Given the description of an element on the screen output the (x, y) to click on. 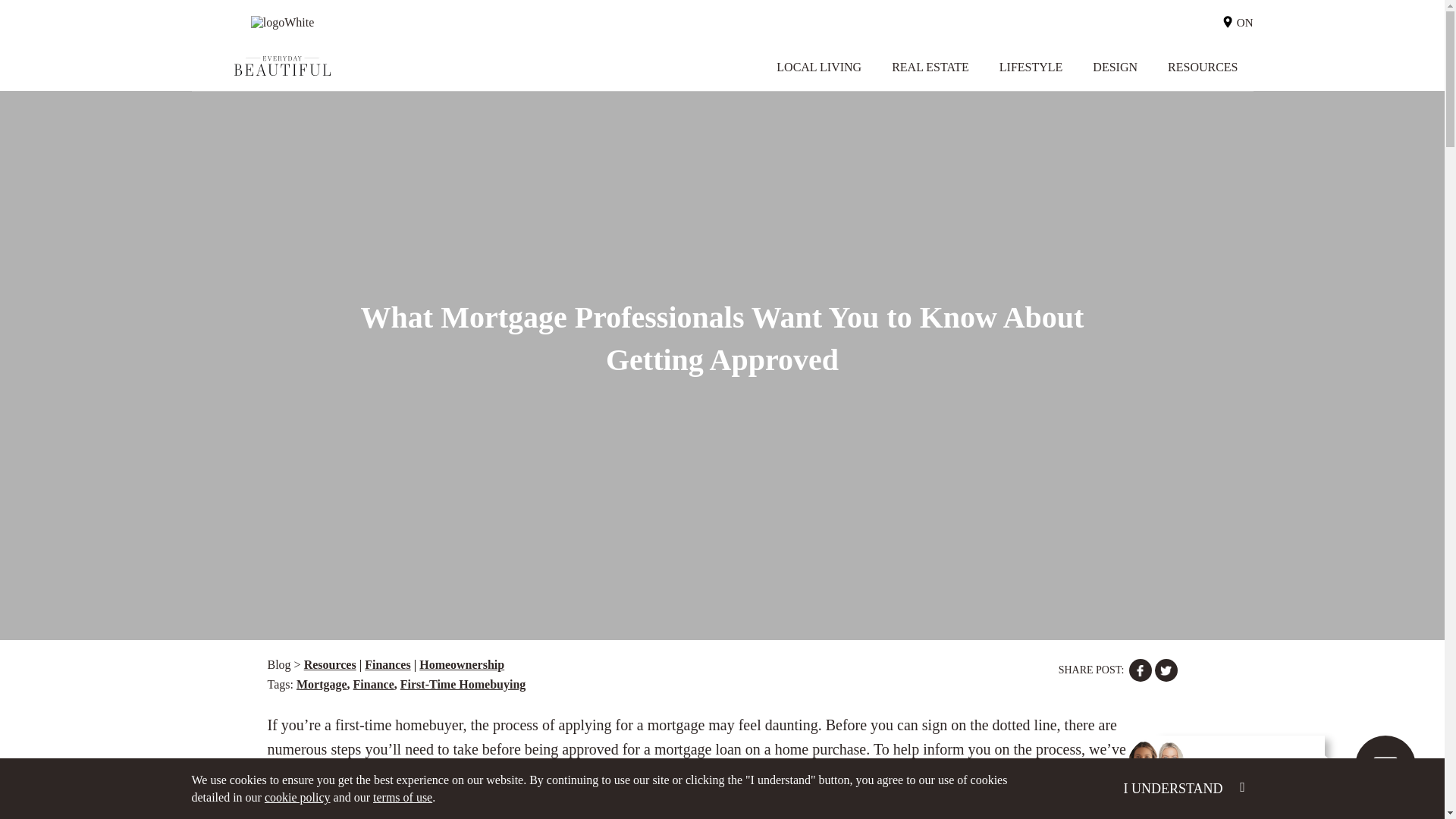
I UNDERSTAND (1183, 788)
terms of use (402, 797)
cookie policy (297, 797)
